Given the description of an element on the screen output the (x, y) to click on. 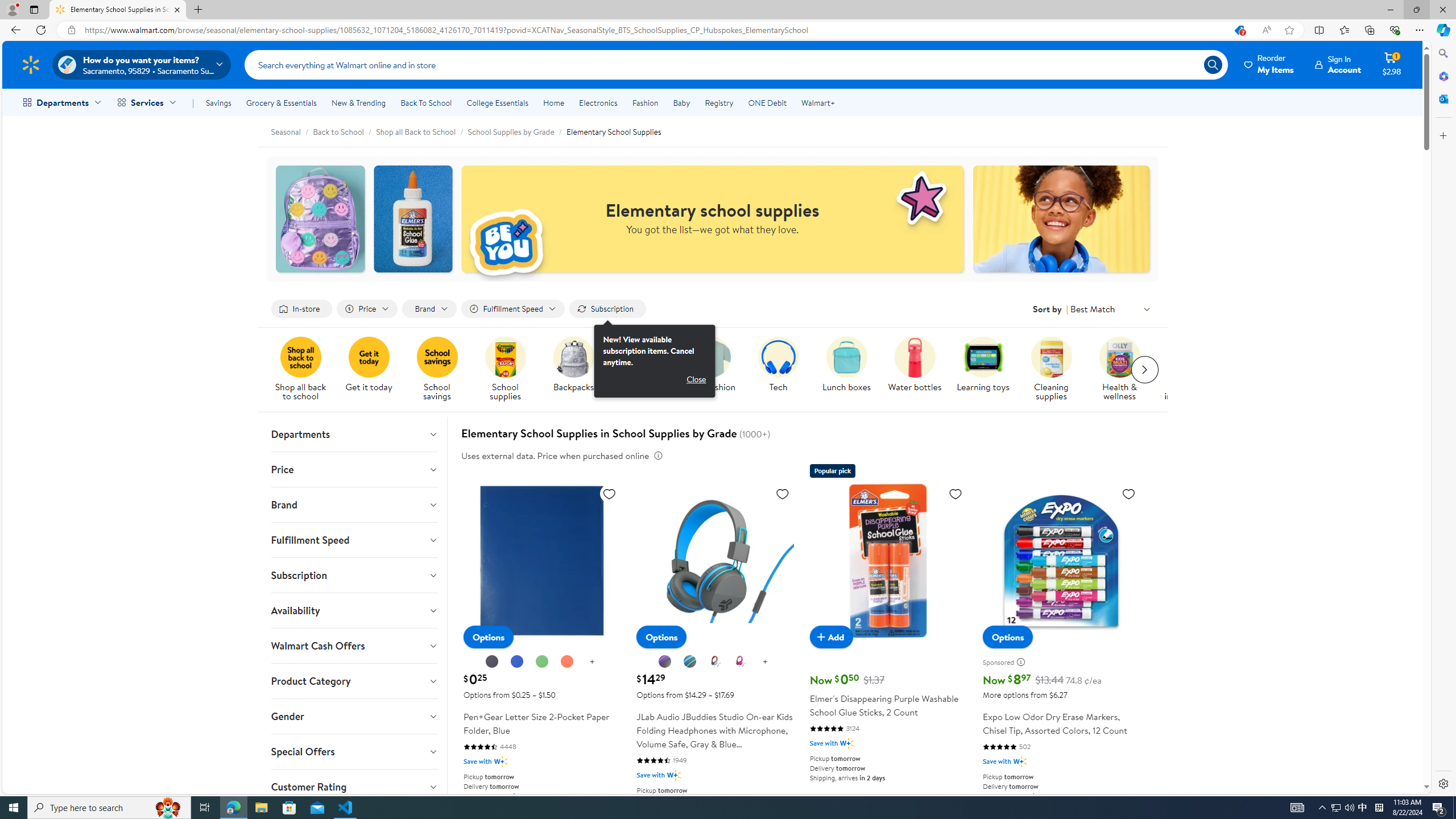
Savings (217, 102)
Lunch boxes (850, 369)
Get it today Get it today (368, 364)
Cleaning supplies (1056, 369)
show more color options (764, 661)
Back To School (425, 102)
Product Category (354, 680)
School Supplies by Grade (516, 131)
Pen+Gear Letter Size 2-Pocket Paper Folder, Blue (542, 634)
Walmart+ (817, 102)
Blue (516, 661)
Special Offers (354, 751)
